Given the description of an element on the screen output the (x, y) to click on. 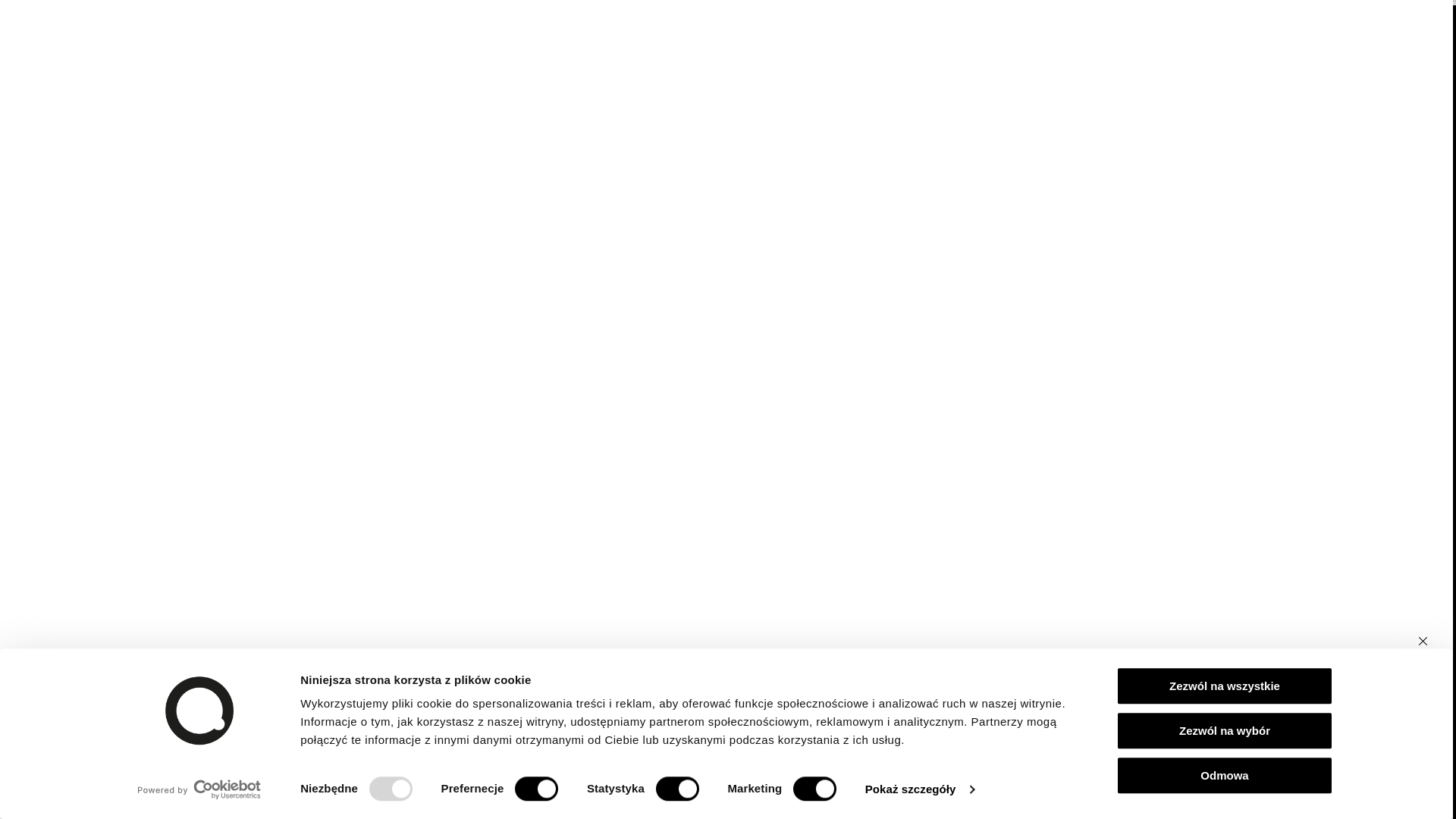
Clothes (543, 46)
Odmowa (1224, 770)
